Given the description of an element on the screen output the (x, y) to click on. 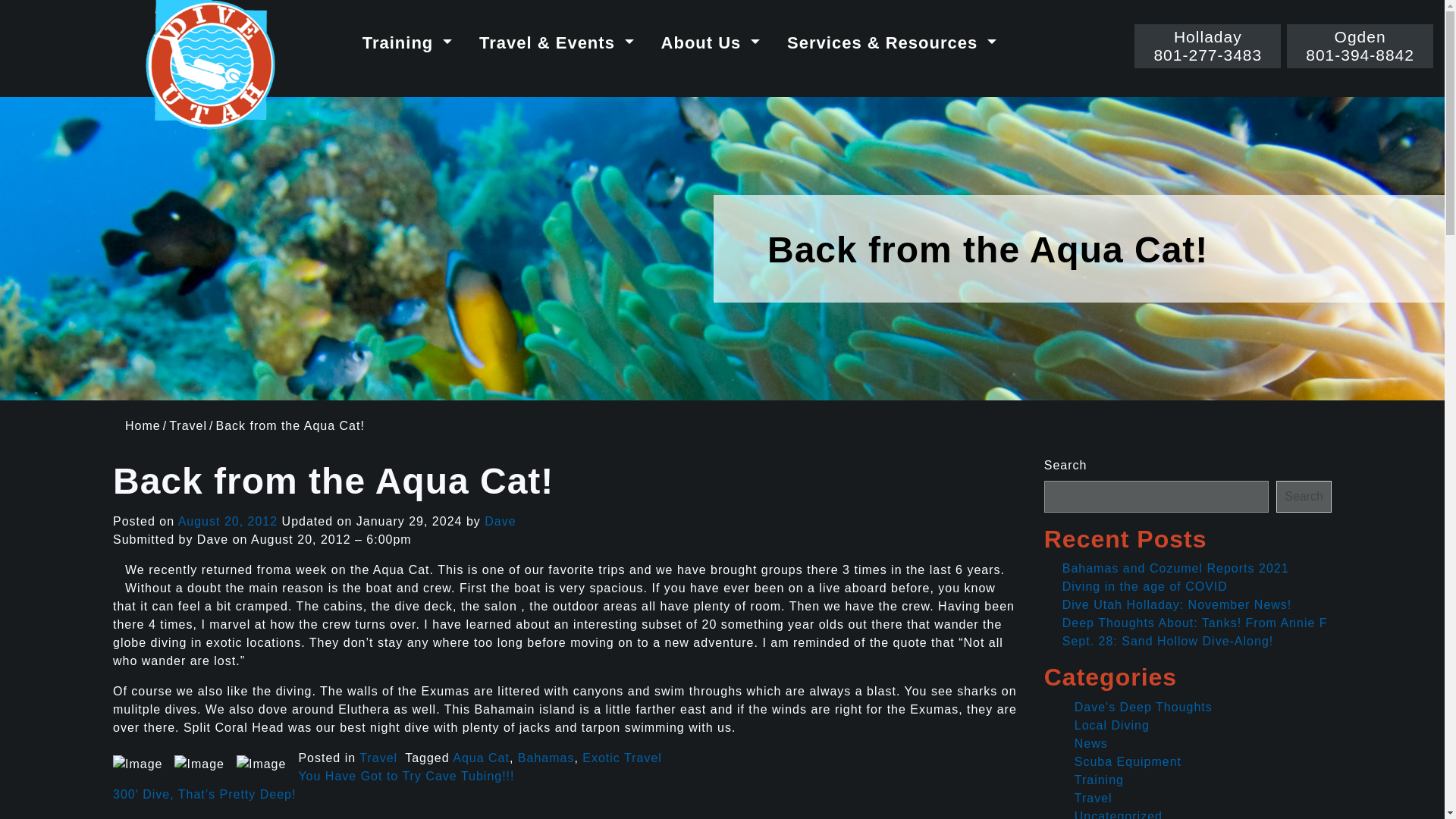
August 20, 2012 (227, 521)
Dive Utah (1207, 45)
Aqua Cat (209, 65)
Bahamas (480, 757)
You Have Got to Try Cave Tubing!!! (546, 757)
Travel (405, 775)
Travel (187, 425)
Training (378, 757)
Dave (407, 42)
